Given the description of an element on the screen output the (x, y) to click on. 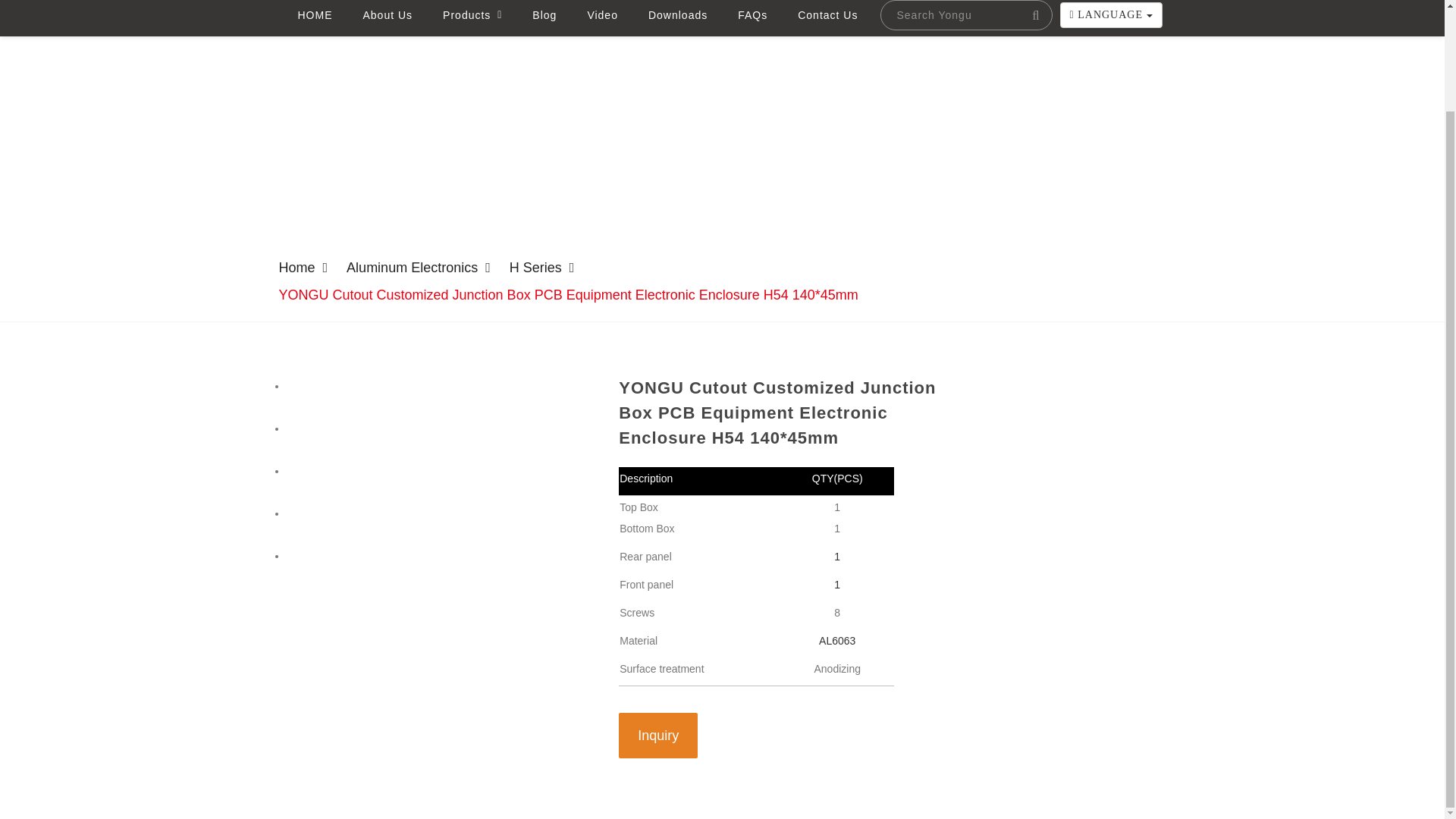
HOME (314, 18)
About Us (387, 18)
Products (472, 18)
Downloads (677, 18)
